Given the description of an element on the screen output the (x, y) to click on. 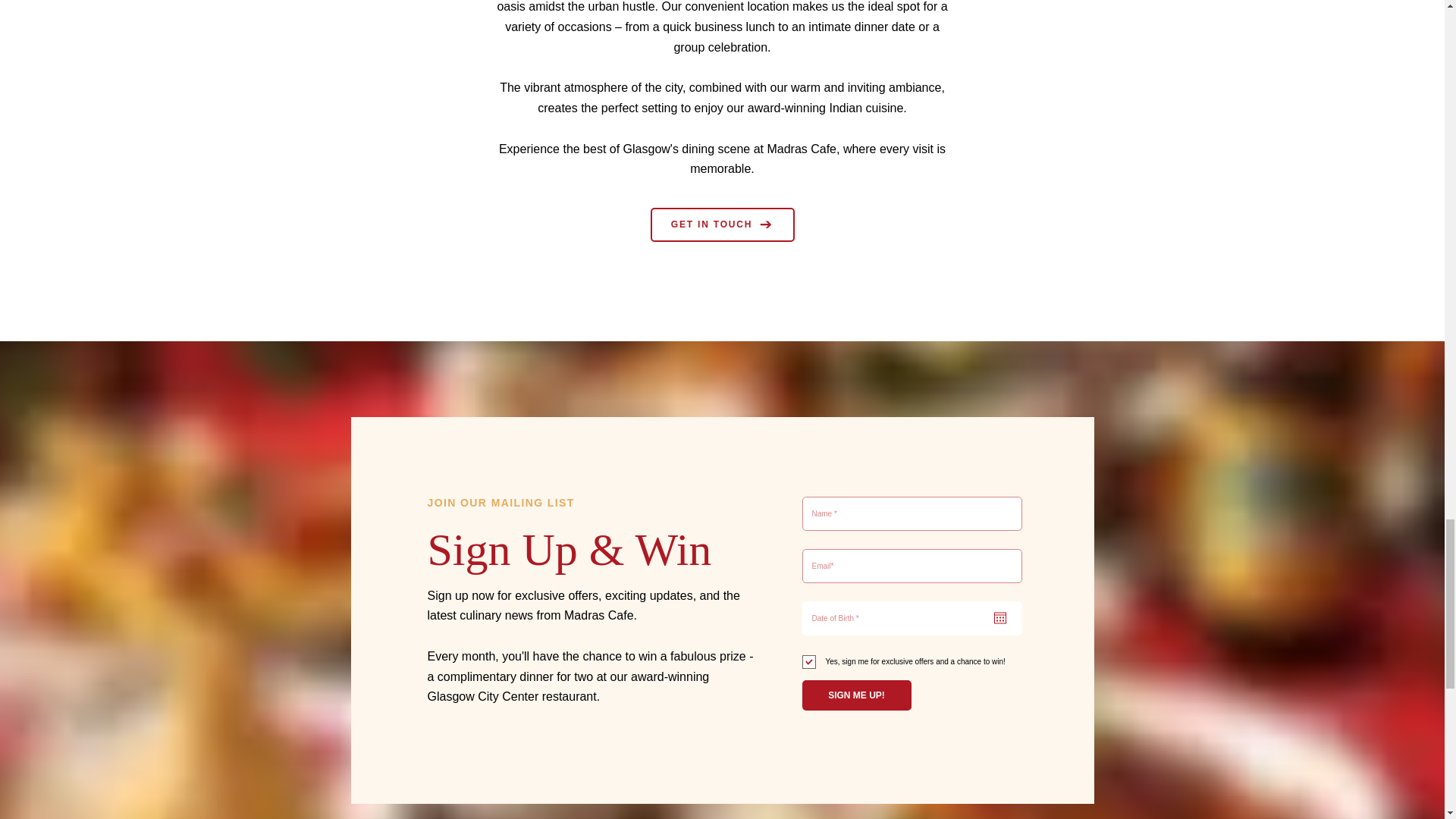
SIGN ME UP! (856, 695)
GET IN TOUCH (722, 224)
